Given the description of an element on the screen output the (x, y) to click on. 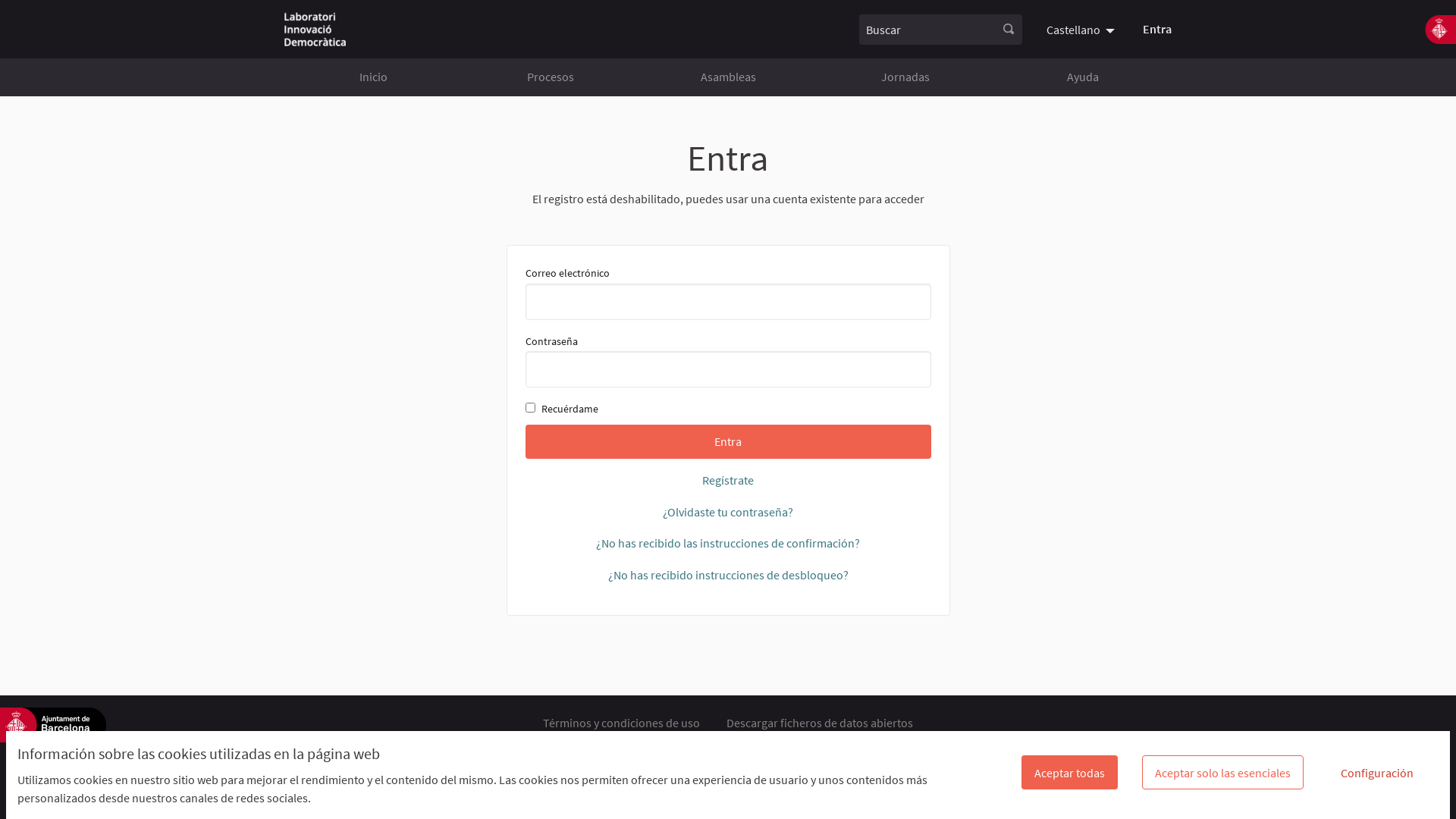
Castellano
Triar la llengua Element type: text (1082, 28)
Asambleas Element type: text (727, 77)
Buscar Element type: text (1008, 28)
Procesos Element type: text (550, 77)
Entra Element type: text (727, 441)
Jornadas Element type: text (905, 77)
Entra Element type: text (1156, 28)
Aceptar solo las esenciales Element type: text (1222, 772)
Aceptar todas Element type: text (1069, 772)
Buscar Element type: hover (926, 28)
Ayuda Element type: text (1082, 77)
Inicio Element type: text (372, 77)
Descargar ficheros de datos abiertos Element type: text (819, 722)
software libre 
(Enlace externo) Element type: text (483, 786)
